Given the description of an element on the screen output the (x, y) to click on. 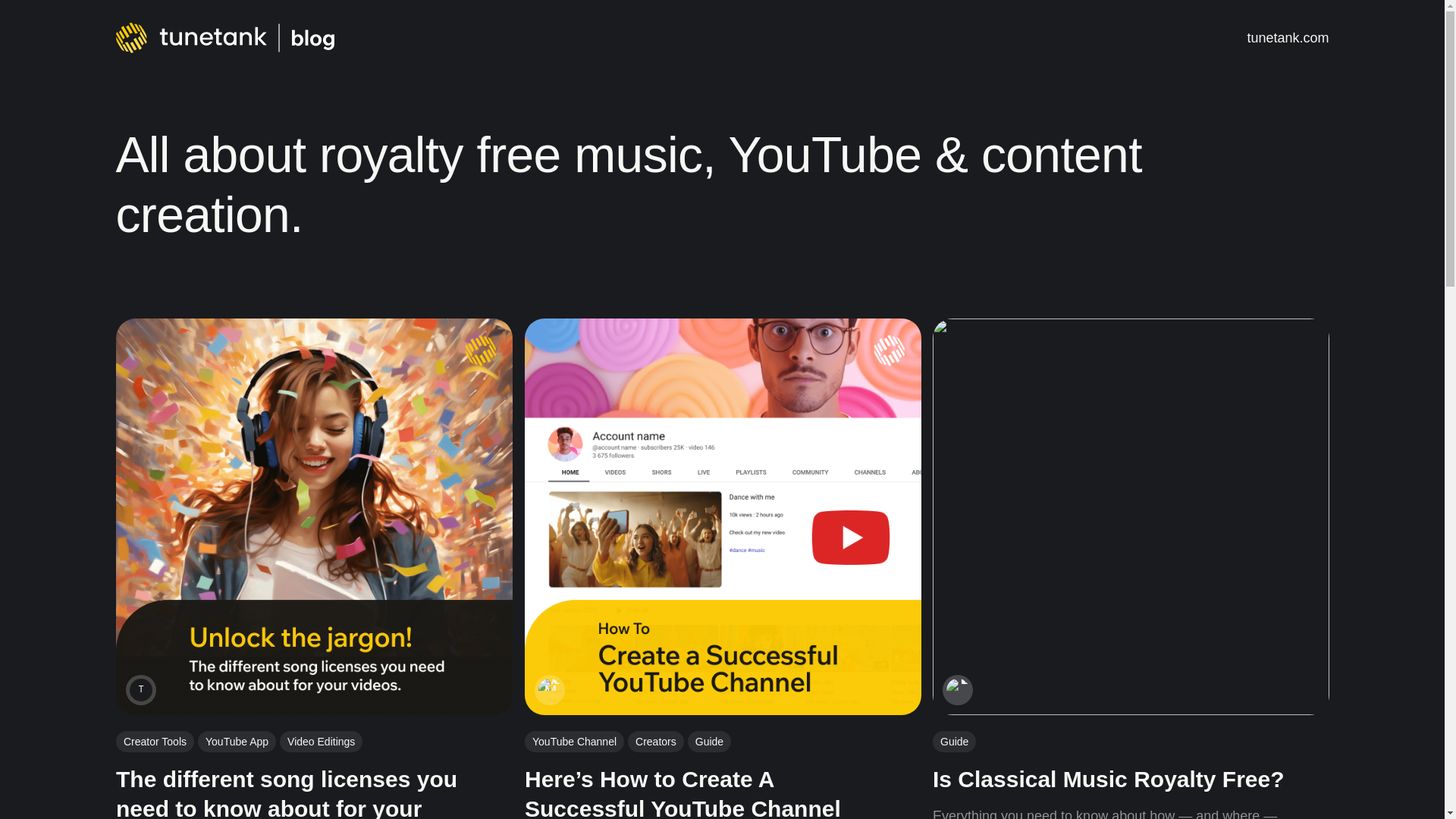
YouTube App (237, 749)
Video Editings (320, 748)
Tunetank (957, 689)
Creator Tools (154, 752)
Guide (708, 742)
Guide (954, 742)
tunetank.com (1286, 37)
Thea Felicity (140, 689)
Alice M. (548, 689)
Creators (654, 743)
Is Classical Music Royalty Free? (1108, 779)
YouTube Channel (573, 744)
